Given the description of an element on the screen output the (x, y) to click on. 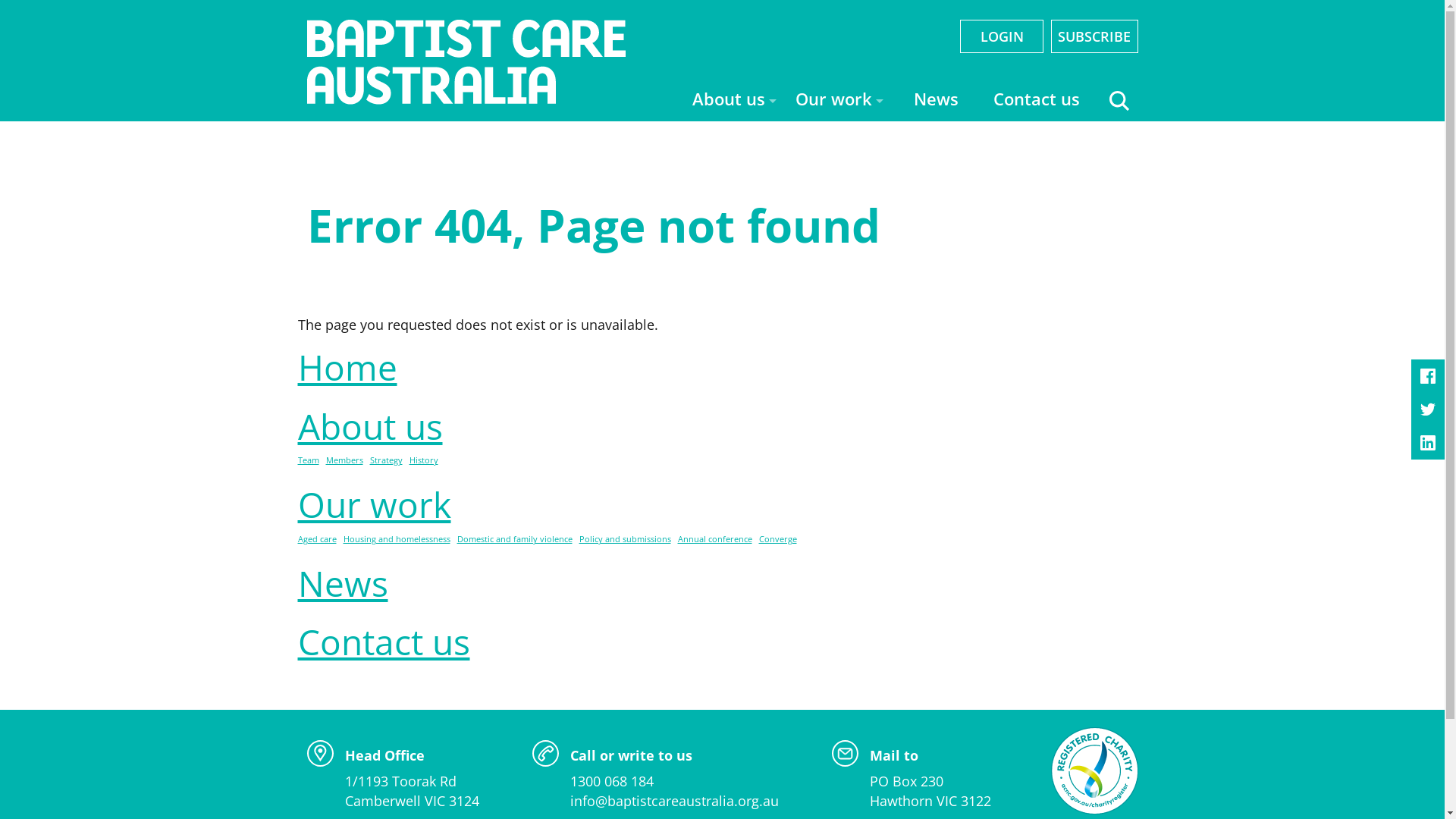
Our work Element type: text (373, 503)
Search Element type: hover (980, 103)
Members Element type: text (344, 460)
News Element type: text (935, 99)
Contact us Element type: text (1035, 99)
Interact on Twitter Element type: text (1427, 409)
LOGIN Element type: text (1001, 36)
About us Element type: text (732, 99)
Policy and submissions Element type: text (625, 539)
Aged care Element type: text (316, 539)
Home Element type: text (346, 366)
Annual conference Element type: text (714, 539)
History Element type: text (423, 460)
Team Element type: text (307, 460)
Search Element type: text (1107, 102)
Search Element type: text (1118, 100)
Strategy Element type: text (386, 460)
Domestic and family violence Element type: text (513, 539)
Converge Element type: text (777, 539)
News Element type: text (342, 582)
Contact us Element type: text (383, 641)
Connect on Facebook Element type: text (1427, 375)
Our work Element type: text (837, 99)
About us Element type: text (369, 425)
Connect on LinkedIn Element type: text (1427, 442)
info@baptistcareaustralia.org.au Element type: text (674, 800)
Housing and homelessness Element type: text (395, 539)
SUBSCRIBE Element type: text (1094, 36)
